Given the description of an element on the screen output the (x, y) to click on. 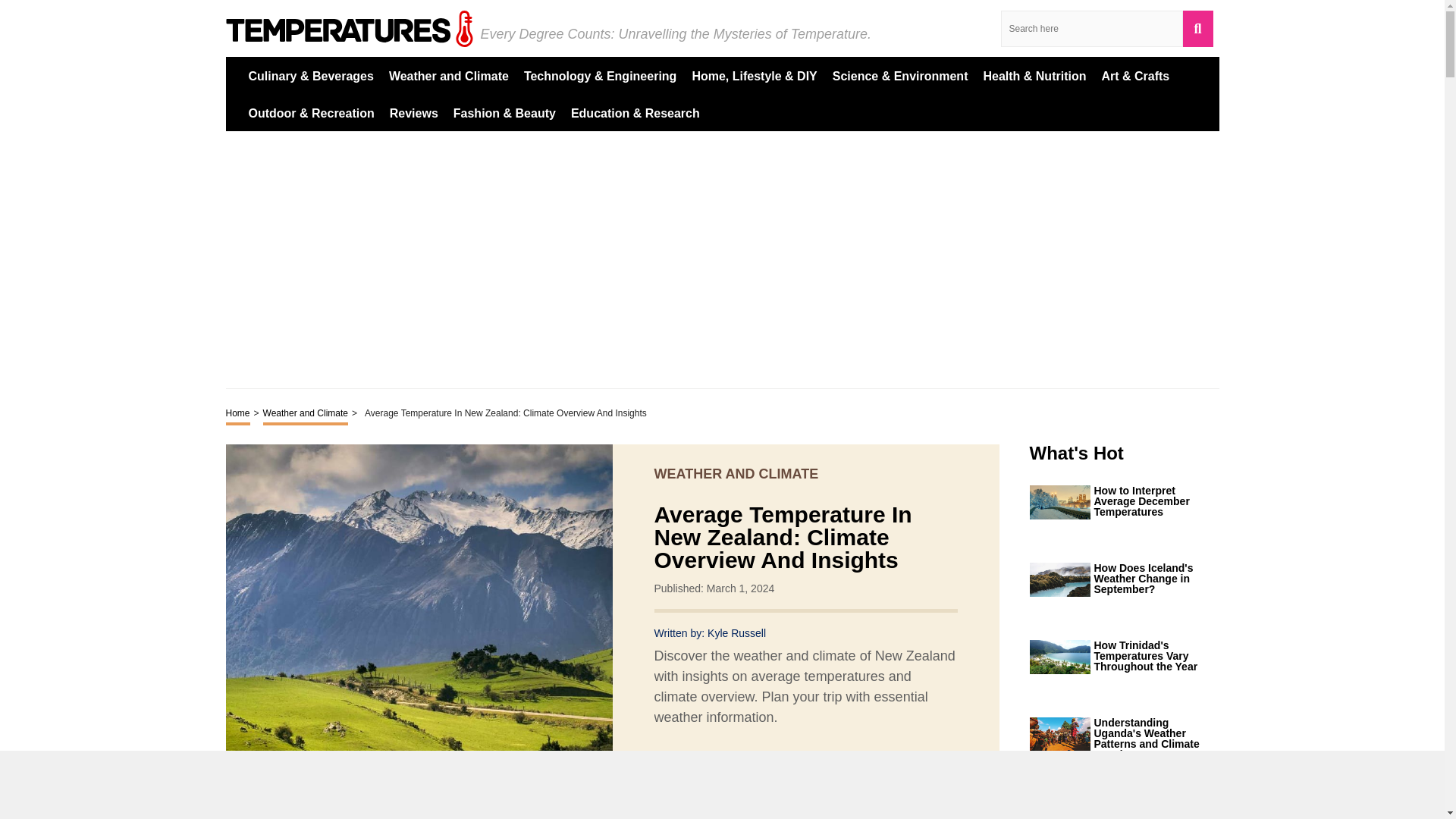
Kyle Russell (736, 633)
Share on Pinterest (759, 775)
Share on Twitter (732, 776)
Weather and Climate (306, 414)
Share on Facebook (705, 775)
Weather and Climate (448, 74)
Home (237, 414)
Share on WhatsApp (786, 775)
Reviews (414, 112)
